Given the description of an element on the screen output the (x, y) to click on. 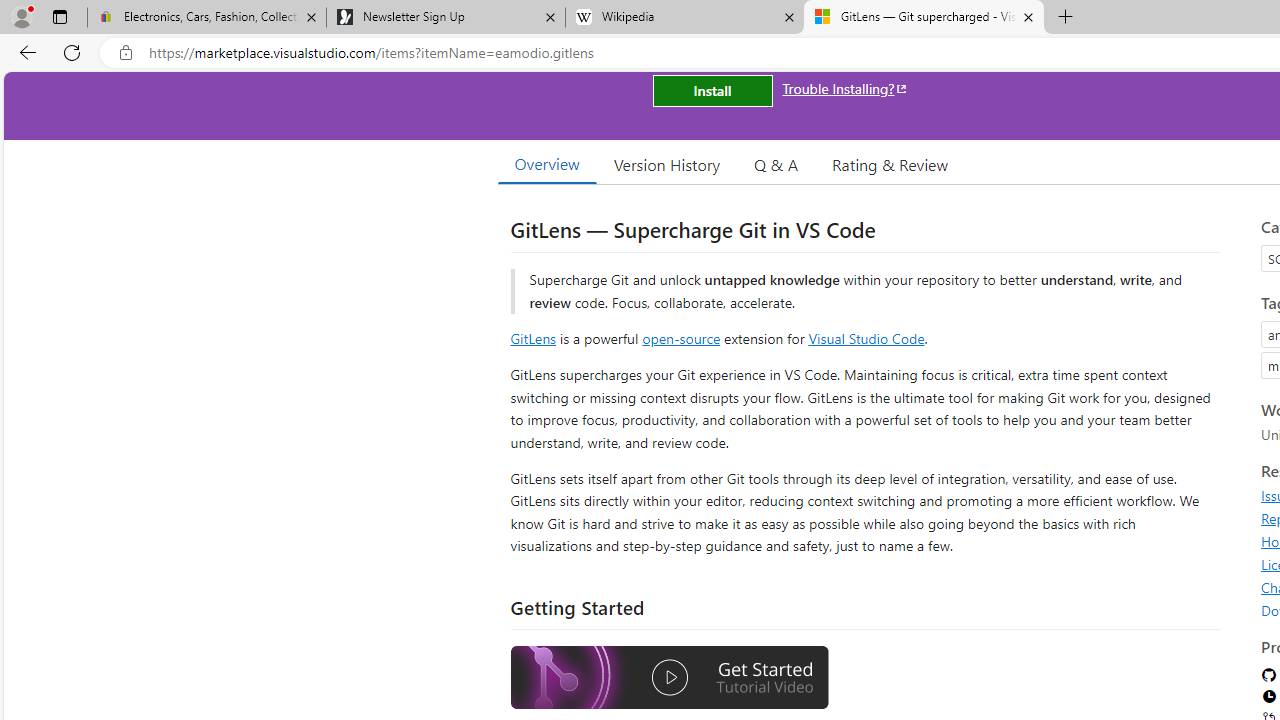
Newsletter Sign Up (445, 17)
GitLens (532, 337)
Install (712, 90)
Electronics, Cars, Fashion, Collectibles & More | eBay (207, 17)
Watch the GitLens Getting Started video (669, 679)
Visual Studio Code (866, 337)
Overview (546, 164)
Wikipedia (684, 17)
